Given the description of an element on the screen output the (x, y) to click on. 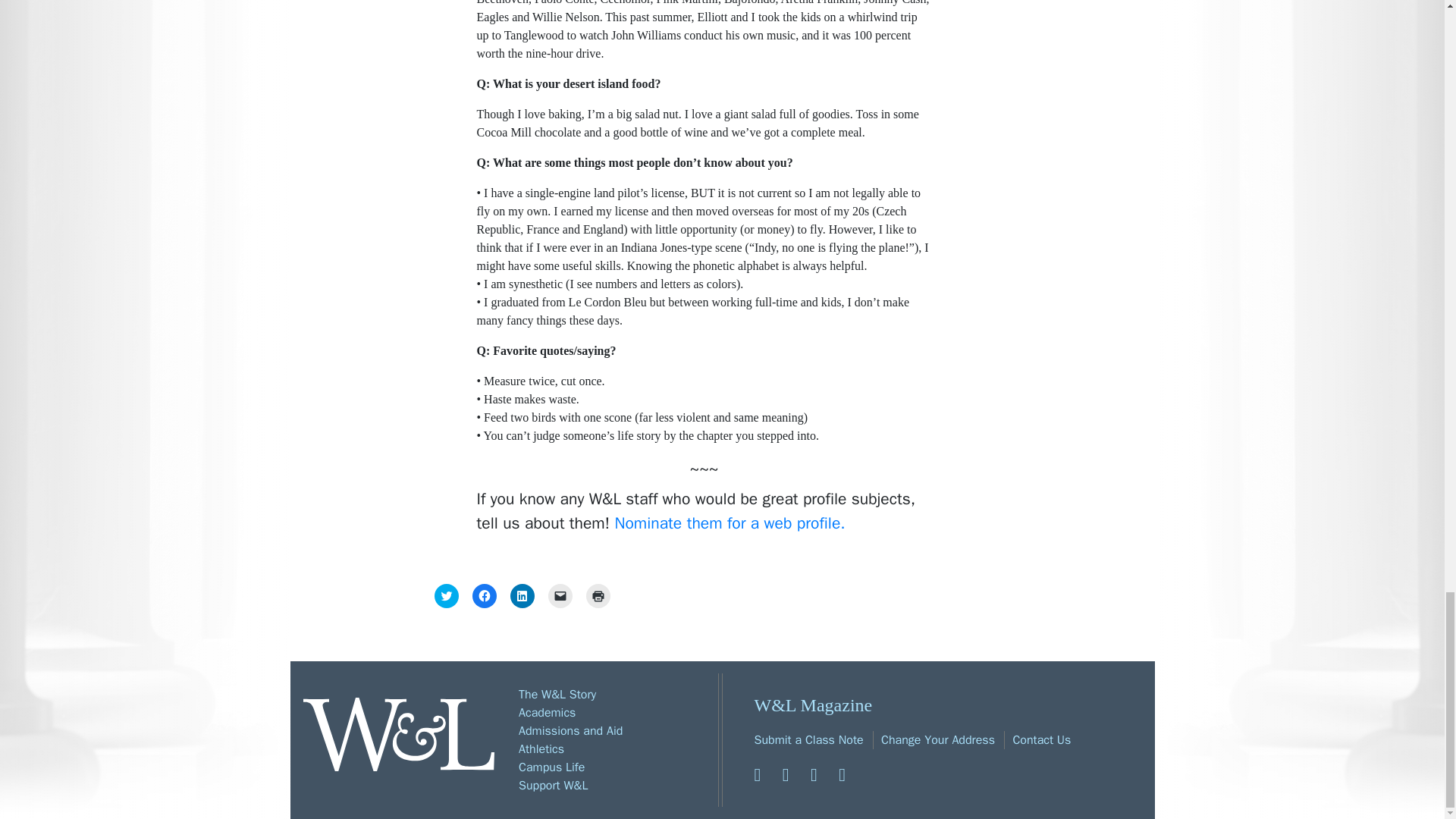
Click to share on Facebook (483, 595)
Click to share on Twitter (445, 595)
Click to email a link to a friend (559, 595)
Click to print (597, 595)
Click to share on LinkedIn (521, 595)
